Given the description of an element on the screen output the (x, y) to click on. 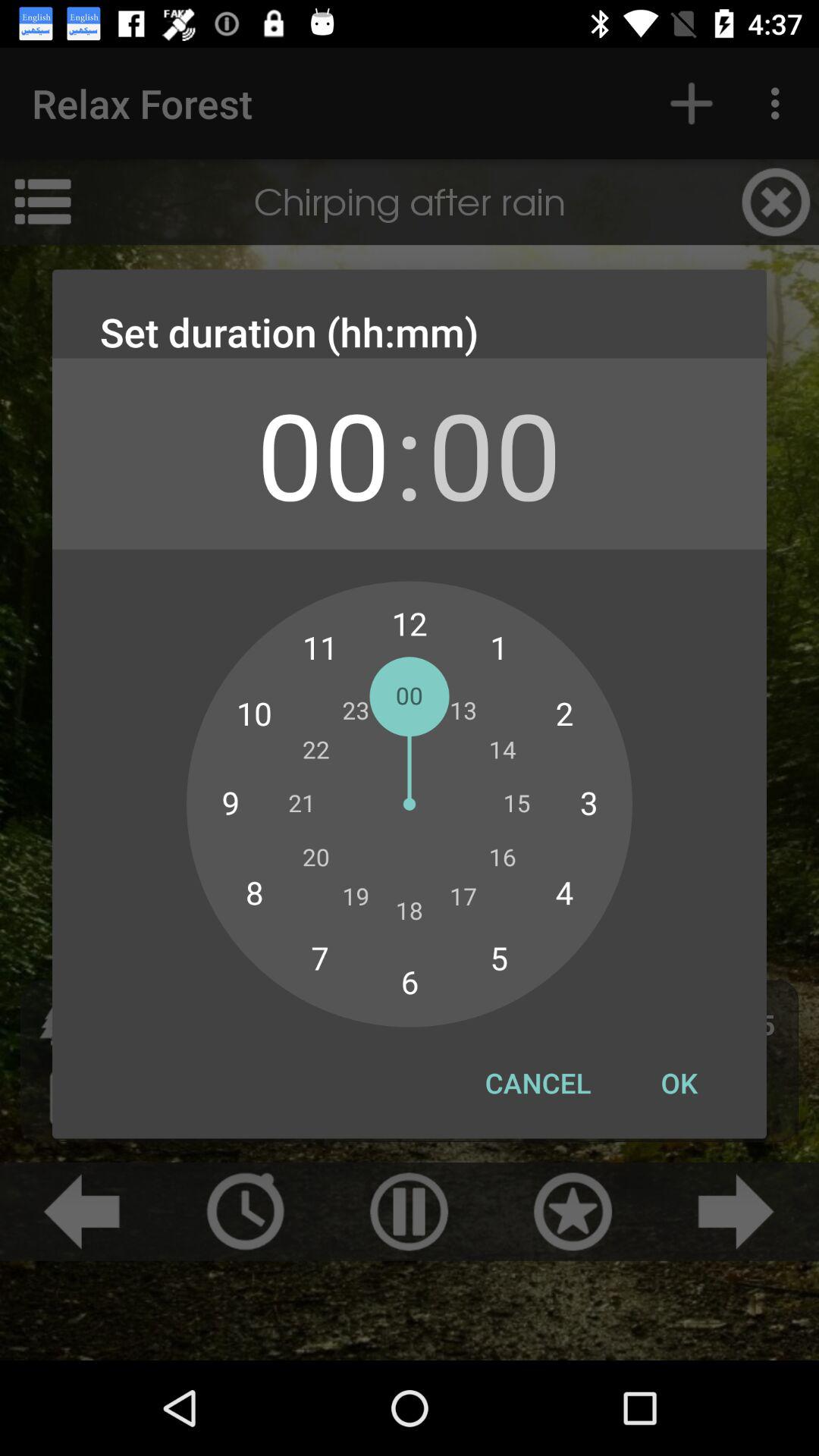
select the item next to the cancel button (678, 1082)
